Given the description of an element on the screen output the (x, y) to click on. 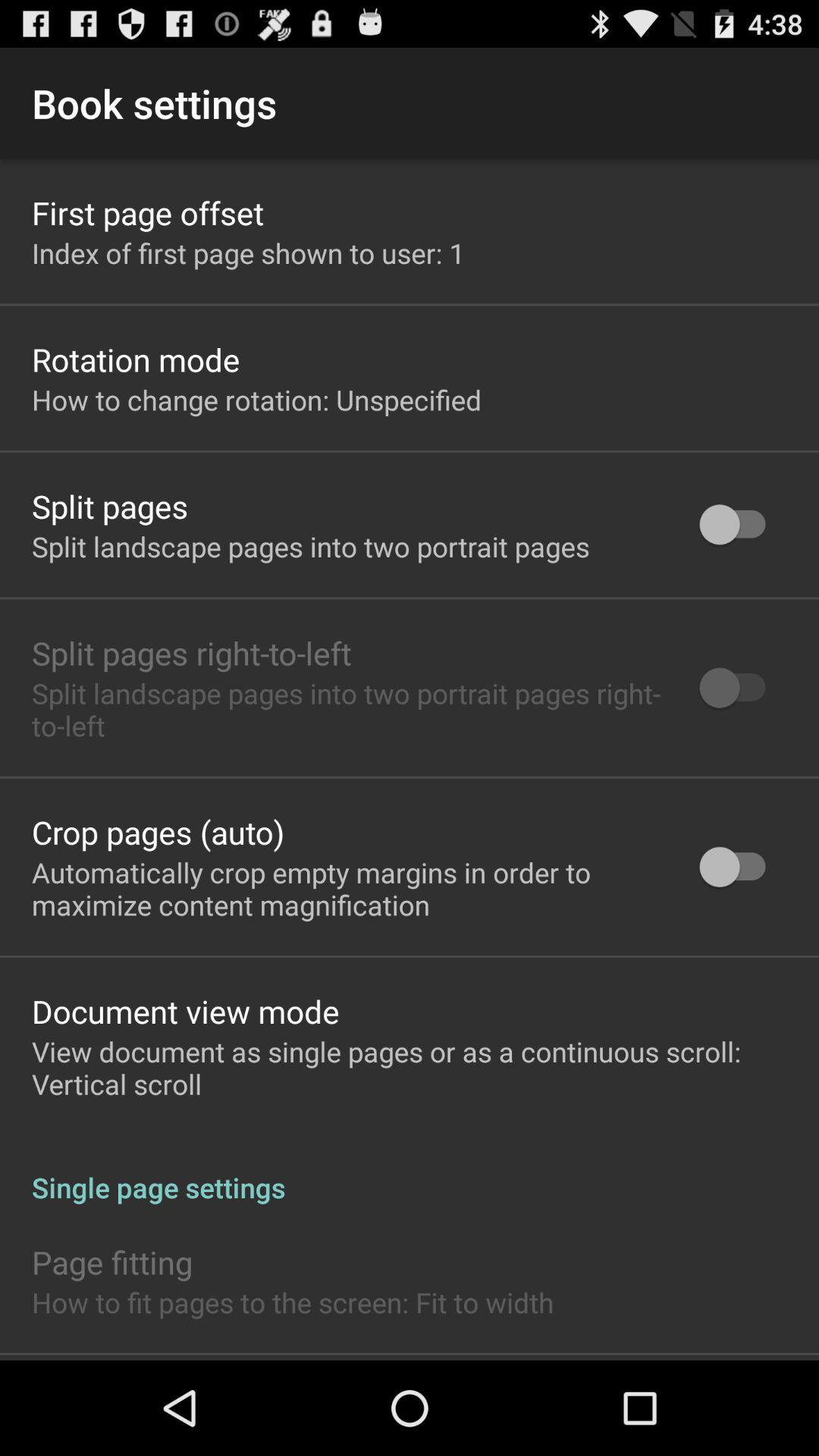
press crop pages (auto) (157, 831)
